Given the description of an element on the screen output the (x, y) to click on. 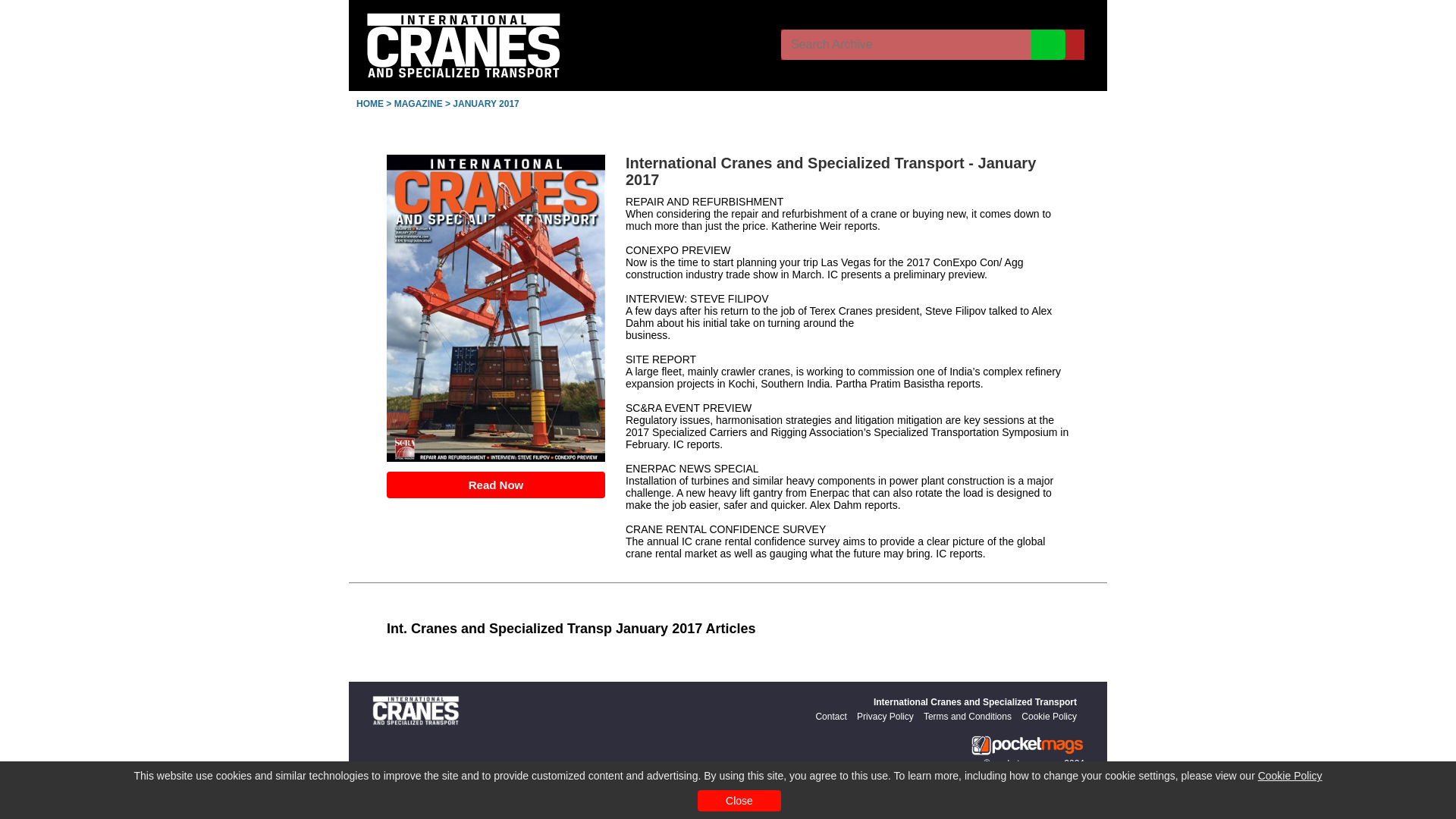
Close (738, 800)
Cookie Policy (1049, 716)
pocketmags.com (1026, 763)
Read Now (496, 484)
Contact (830, 716)
International Cranes and Specialized Transport (975, 701)
JANUARY 2017 (485, 103)
Privacy Policy (885, 716)
HOME (370, 103)
Terms and Conditions (967, 716)
Cookie Policy (1289, 775)
